Given the description of an element on the screen output the (x, y) to click on. 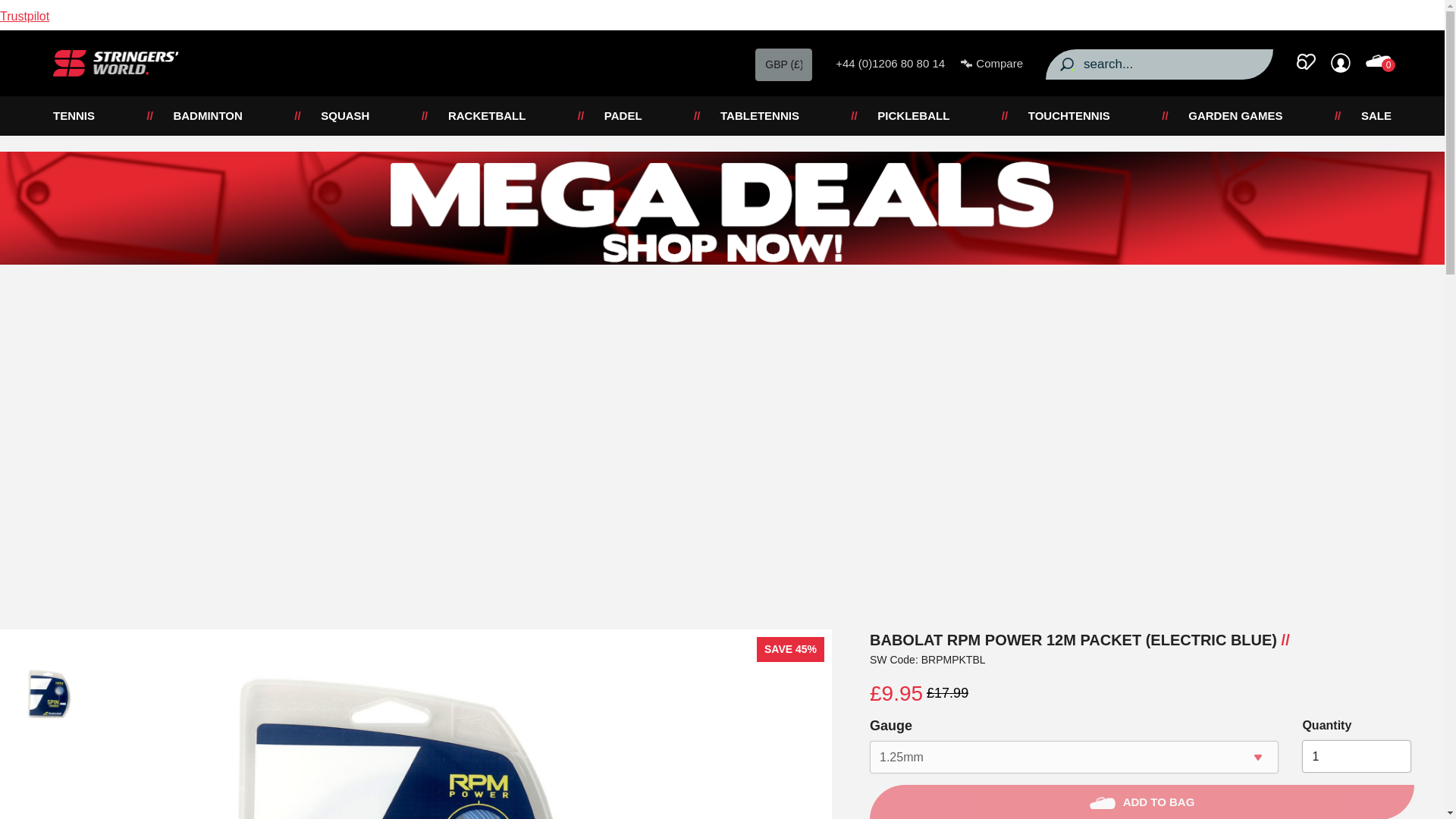
rpm power pkt blue (49, 693)
TENNIS (73, 115)
My Account (1340, 62)
Search (1066, 64)
Qty (1355, 756)
Trustpilot (24, 15)
My Account (1340, 62)
My Account (1305, 62)
1 (1355, 756)
Compare (991, 63)
